Given the description of an element on the screen output the (x, y) to click on. 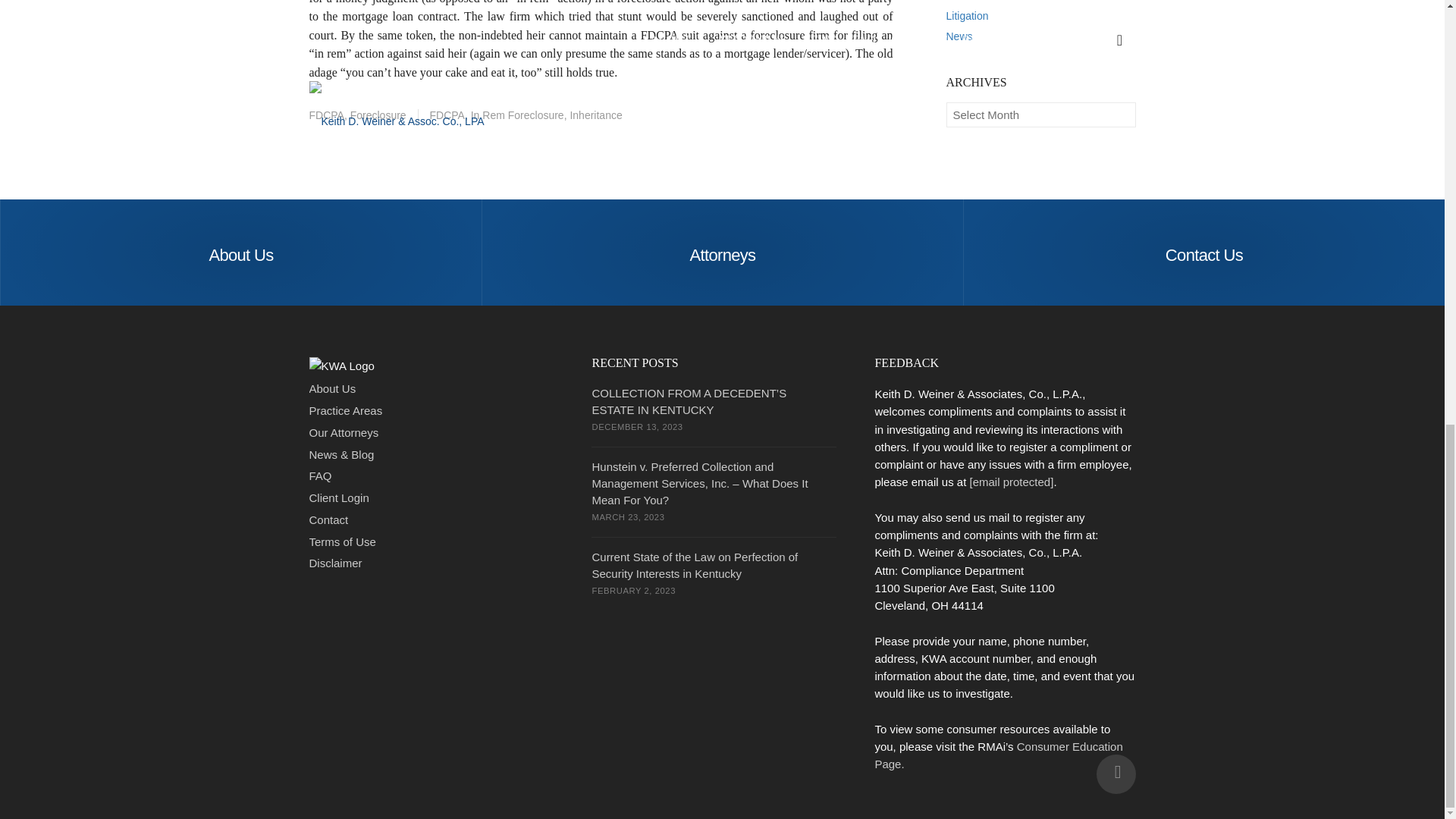
In Rem Foreclosure (517, 114)
FDCPA (440, 114)
Foreclosure (378, 114)
Inheritance (595, 114)
FDCPA (325, 114)
